Given the description of an element on the screen output the (x, y) to click on. 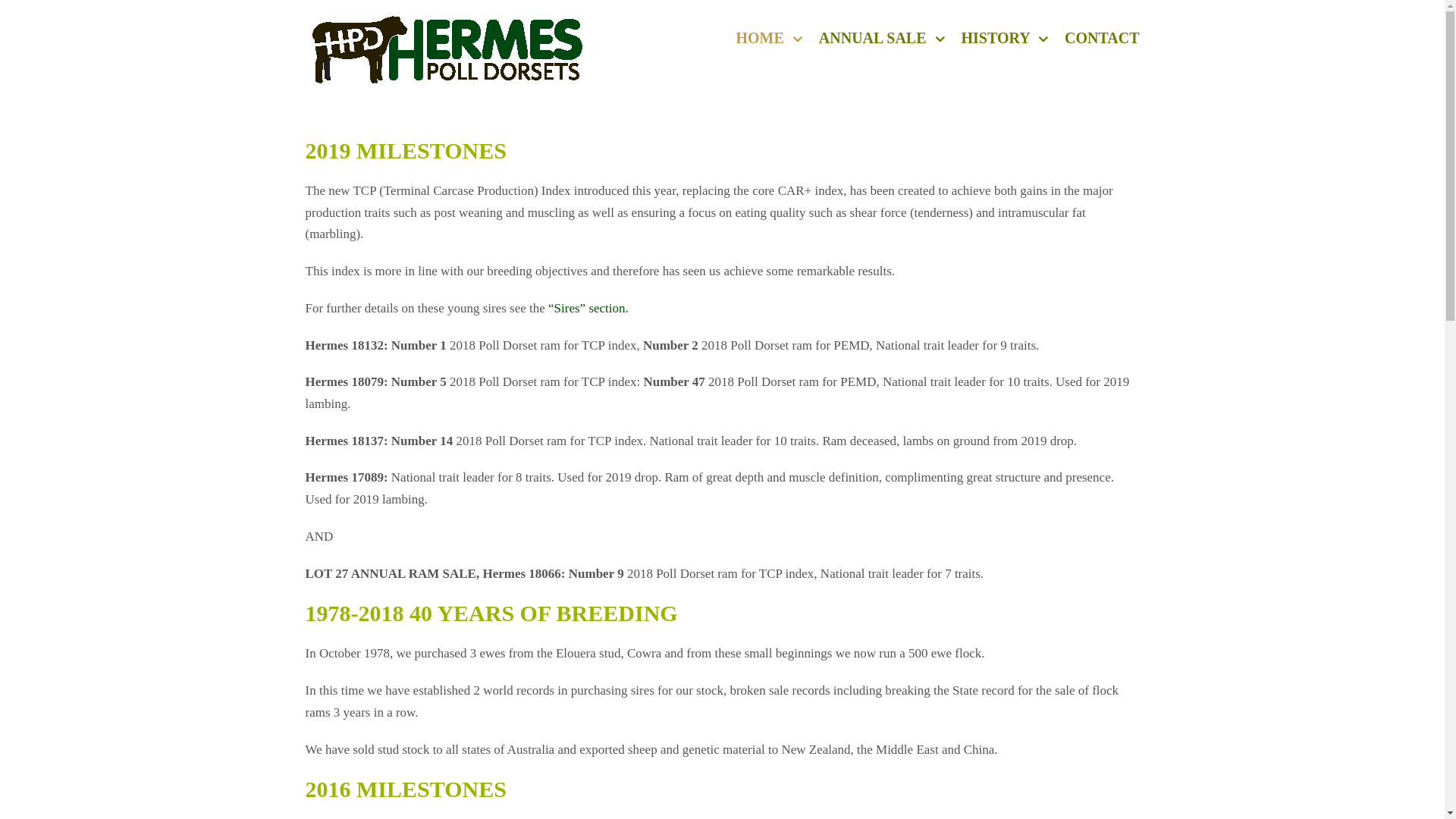
CONTACT Element type: text (1101, 37)
ANNUAL SALE Element type: text (881, 37)
HOME Element type: text (768, 37)
HISTORY Element type: text (1004, 37)
